Given the description of an element on the screen output the (x, y) to click on. 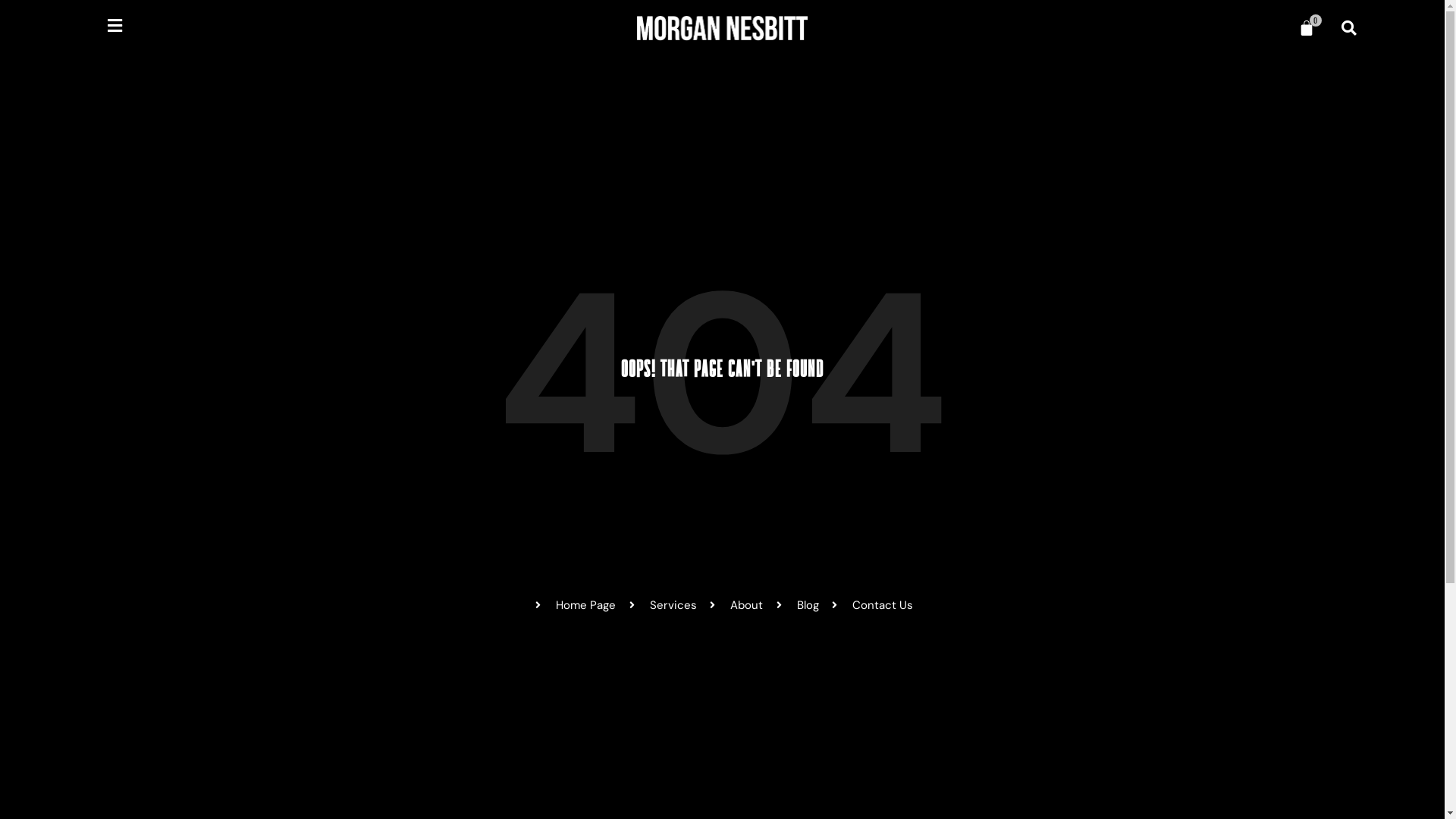
0 Element type: text (1306, 27)
